Given the description of an element on the screen output the (x, y) to click on. 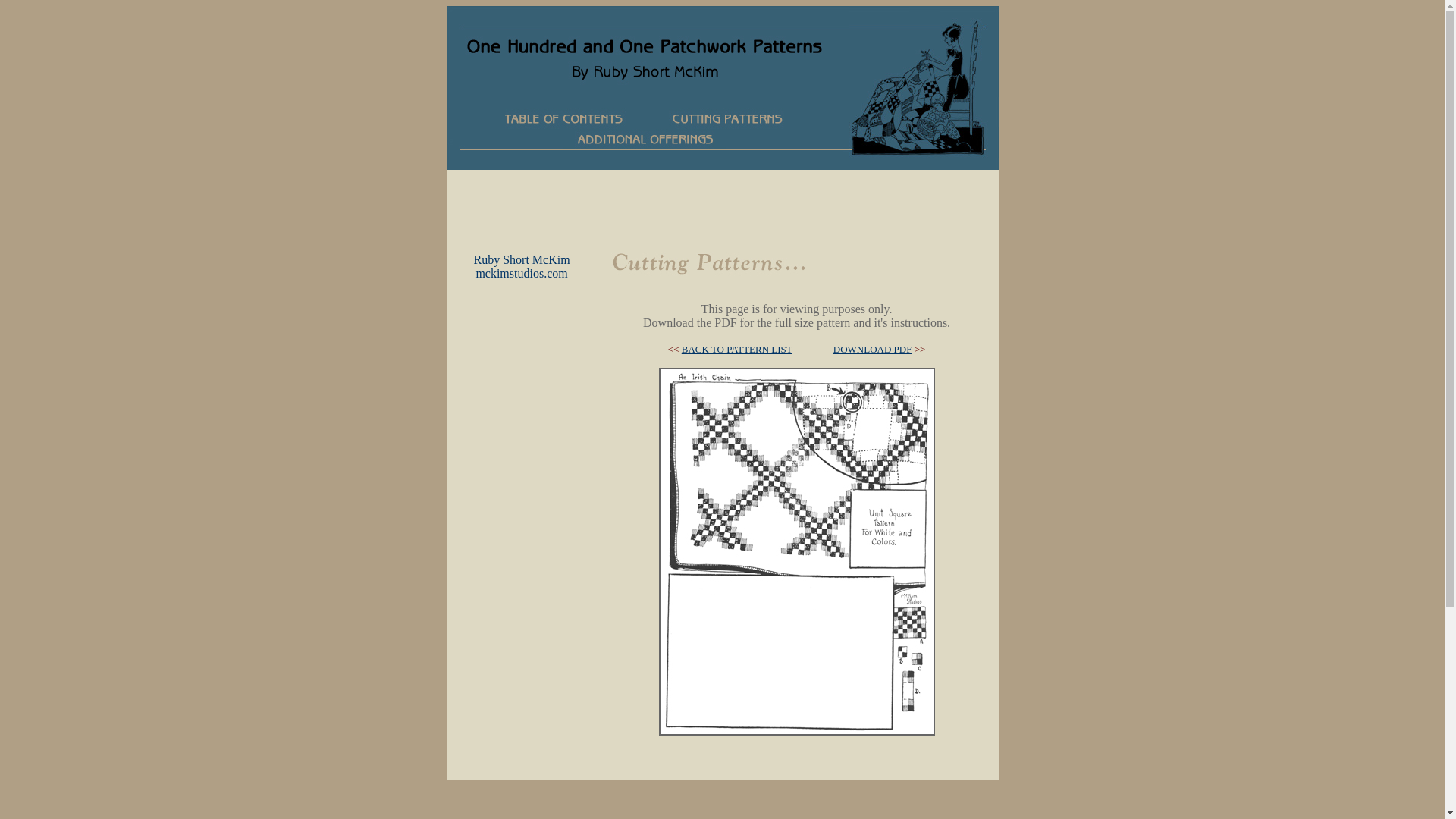
Advertisement Element type: hover (721, 203)
BACK TO PATTERN LIST Element type: text (736, 348)
DOWNLOAD PDF Element type: text (872, 348)
Advertisement Element type: hover (521, 521)
Ruby Short McKim
mckimstudios.com Element type: text (521, 266)
